Given the description of an element on the screen output the (x, y) to click on. 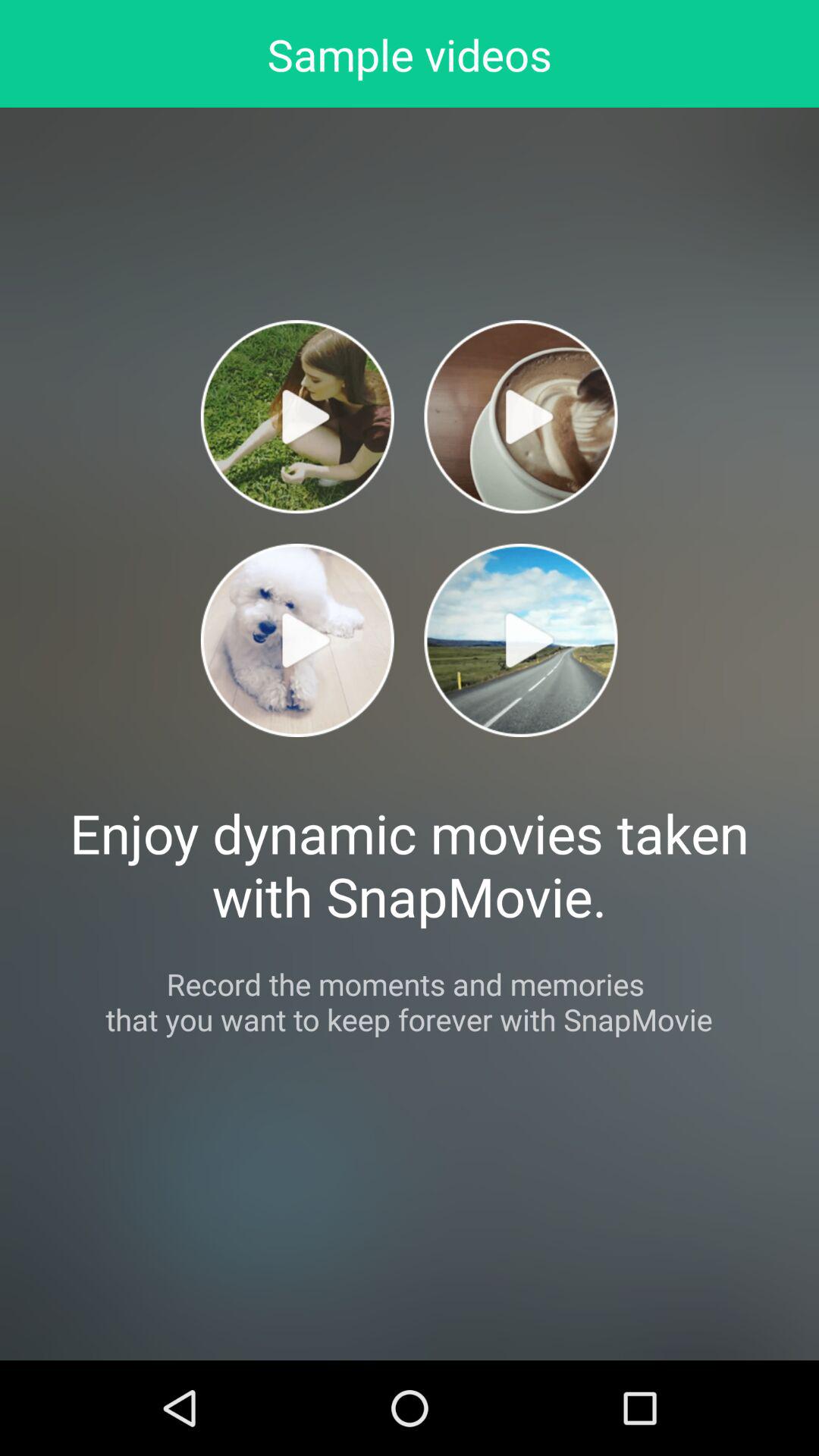
watch sample video (520, 640)
